Given the description of an element on the screen output the (x, y) to click on. 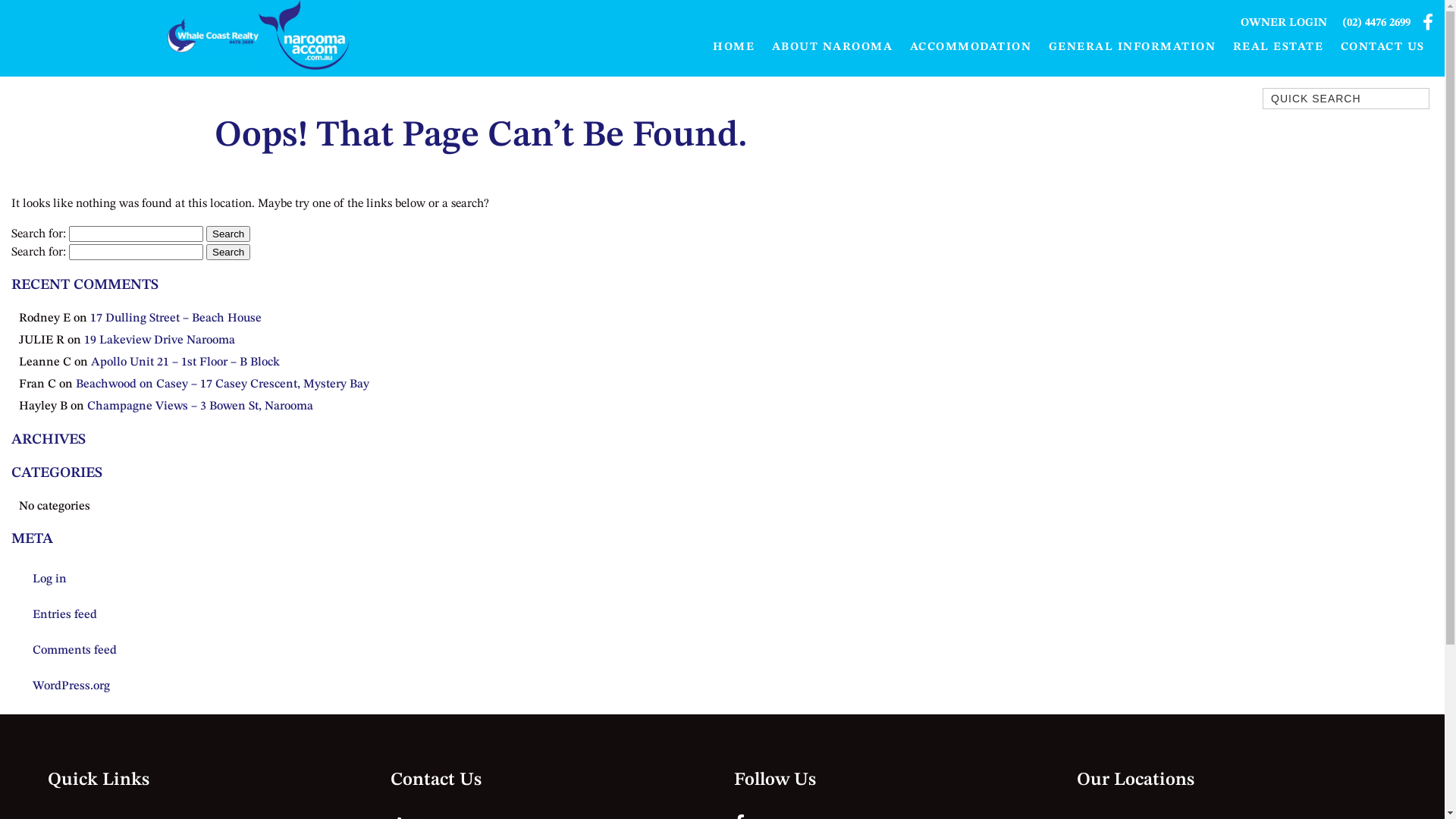
ABOUT NAROOMA Element type: text (831, 47)
(02) 4476 2699 Element type: text (1376, 22)
REAL ESTATE Element type: text (1277, 47)
HOME Element type: text (733, 47)
OWNER LOGIN Element type: text (1283, 22)
GENERAL INFORMATION Element type: text (1132, 47)
CONTACT US Element type: text (1382, 47)
Log in Element type: text (244, 579)
Entries feed Element type: text (244, 614)
WordPress.org Element type: text (244, 686)
Search Element type: text (228, 252)
ACCOMMODATION Element type: text (969, 47)
19 Lakeview Drive Narooma Element type: text (159, 340)
Comments feed Element type: text (244, 650)
Search Element type: text (228, 233)
